Given the description of an element on the screen output the (x, y) to click on. 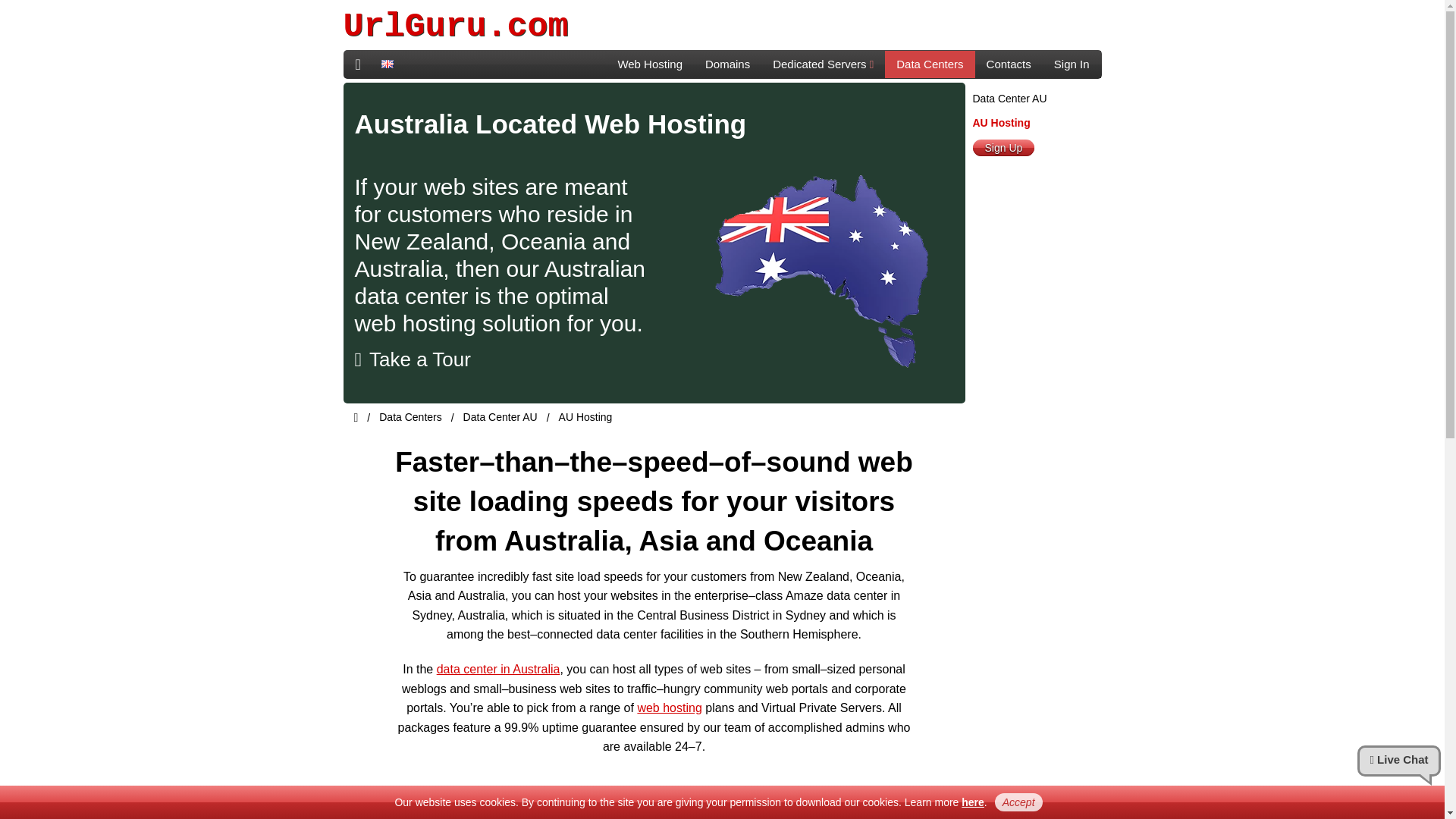
data center in Australia (498, 668)
Data Centers (409, 417)
Privacy Policy (972, 802)
AU Hosting (585, 417)
Data Center AU (500, 417)
Web Hosting (649, 63)
web hosting (669, 707)
data center in Australia (498, 668)
Data Center AU (1009, 98)
web hosting (669, 707)
Live chat online (1398, 760)
Dedicated Servers (823, 63)
Data Centers (929, 63)
Take a Tour (412, 359)
UrlGuru.com (454, 26)
